Given the description of an element on the screen output the (x, y) to click on. 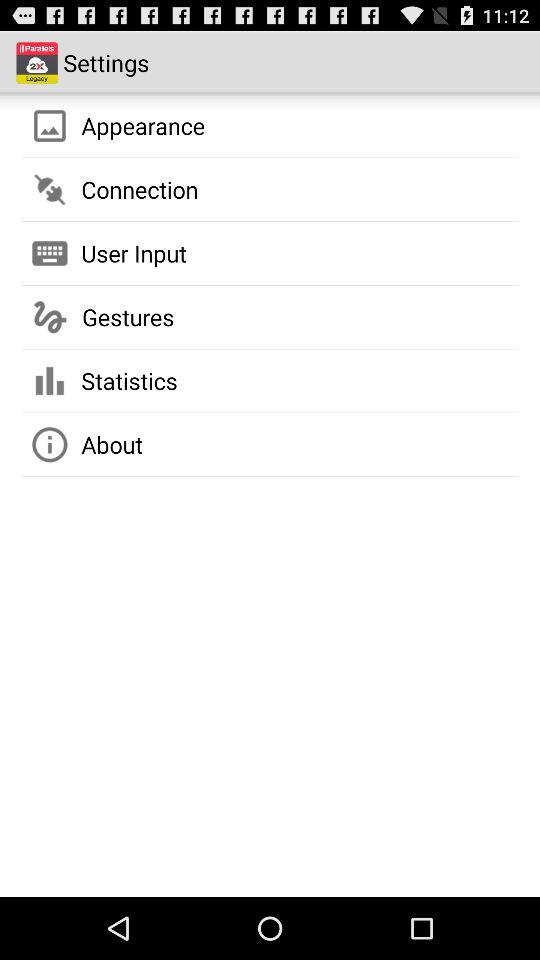
flip to statistics icon (129, 380)
